Given the description of an element on the screen output the (x, y) to click on. 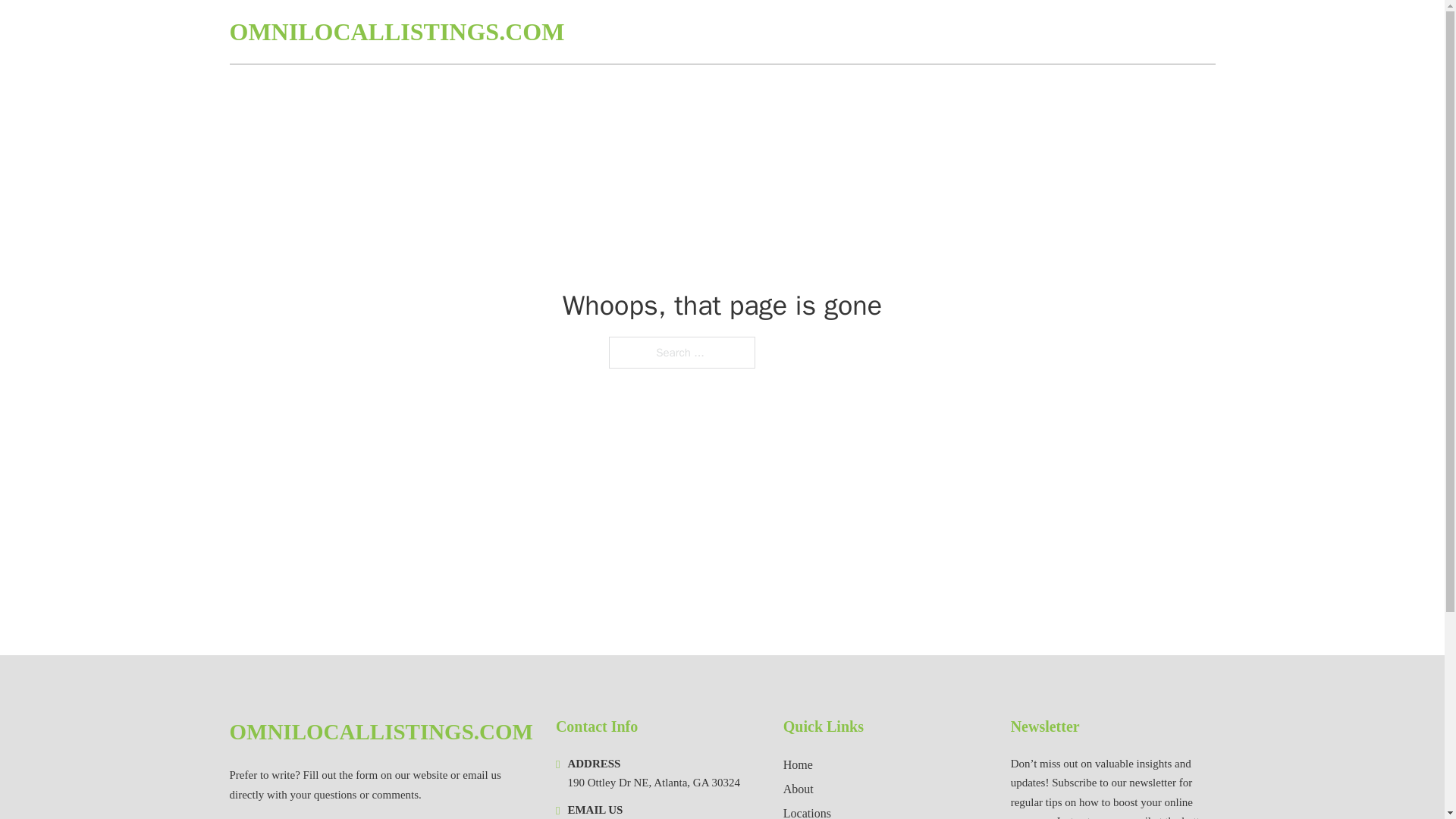
LOCATIONS (1105, 31)
About (798, 788)
HOME (1032, 31)
Home (797, 764)
Locations (807, 811)
OMNILOCALLISTINGS.COM (380, 732)
OMNILOCALLISTINGS.COM (396, 31)
